Given the description of an element on the screen output the (x, y) to click on. 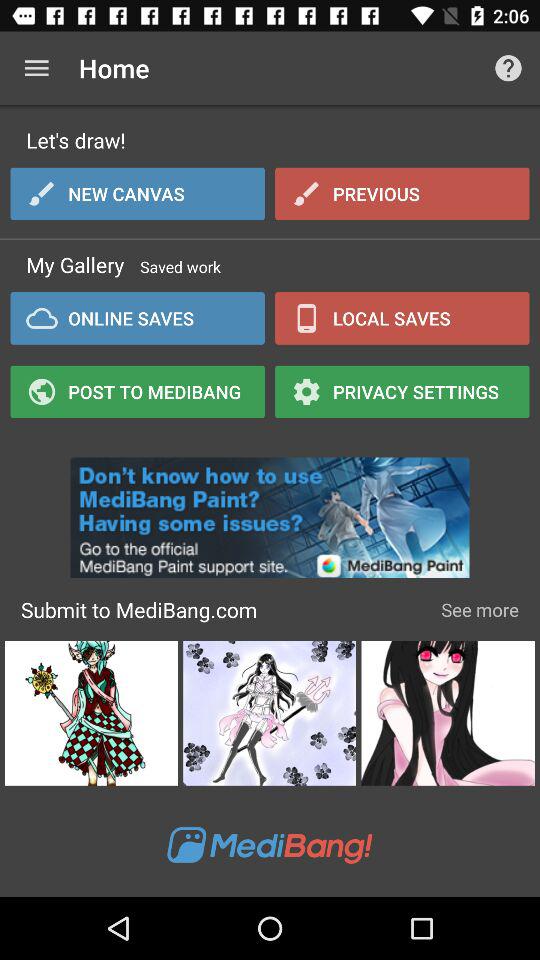
home (36, 68)
